Given the description of an element on the screen output the (x, y) to click on. 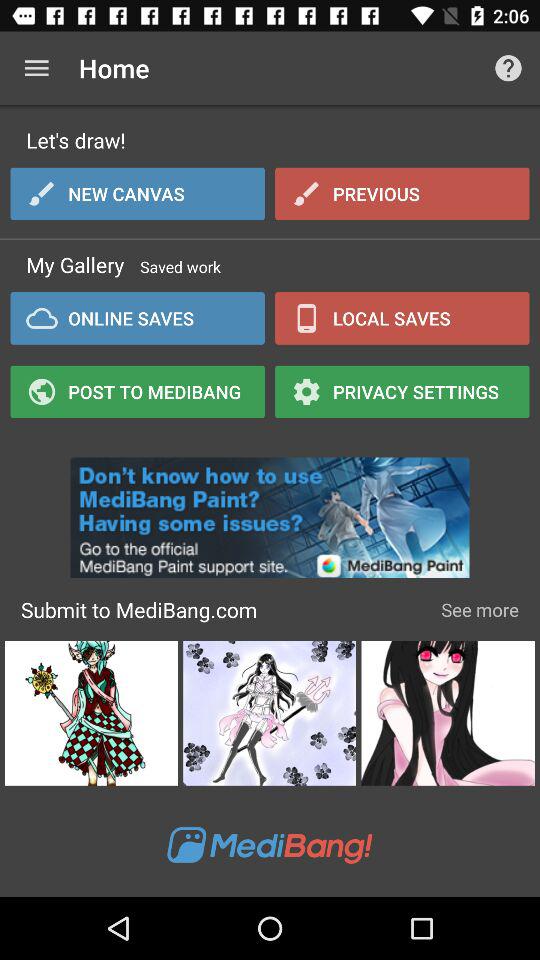
home (36, 68)
